Given the description of an element on the screen output the (x, y) to click on. 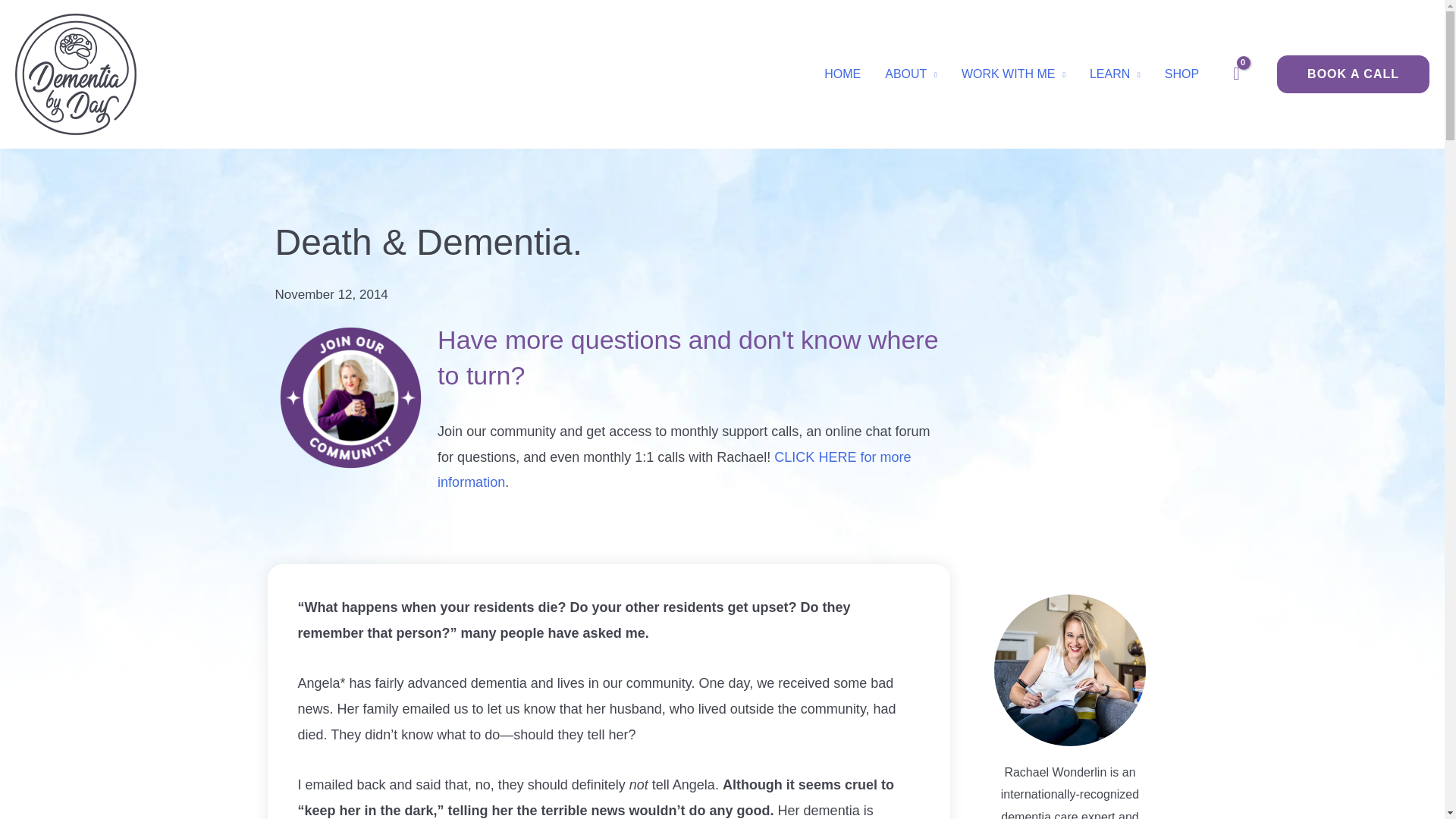
4 (350, 398)
BOOK A CALL (1345, 74)
ABOUT (910, 73)
LEARN (1115, 73)
SHOP (1182, 73)
HOME (842, 73)
WORK WITH ME (1013, 73)
